Given the description of an element on the screen output the (x, y) to click on. 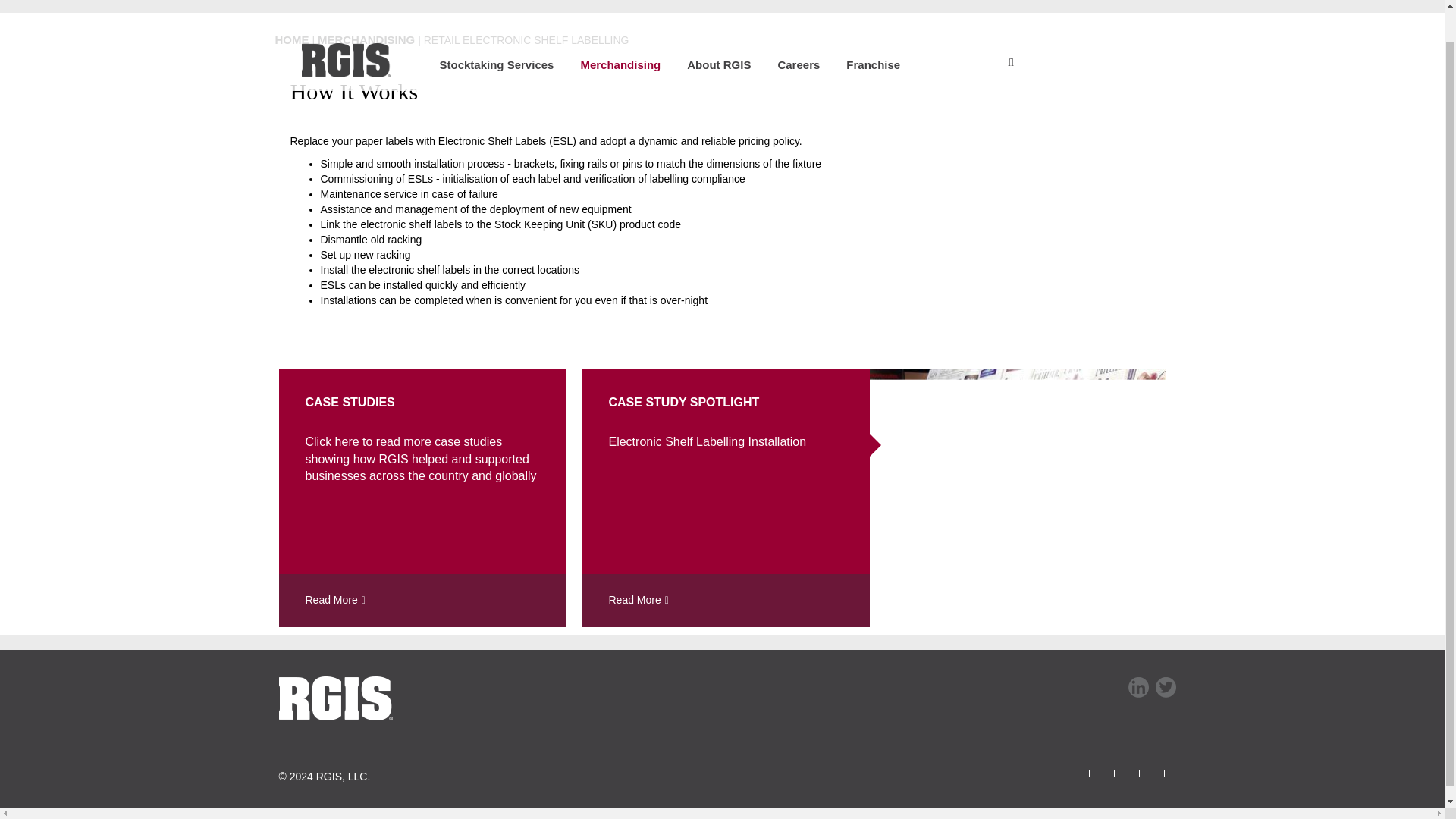
About RGIS (706, 31)
MERCHANDISING (365, 39)
Merchandising (607, 31)
Read More  (423, 600)
Stocktaking Services (482, 31)
Read More (724, 600)
The hands-on resources to keep your stores fresh. (607, 31)
Careers (785, 31)
HOME (291, 39)
Franchise (859, 31)
